Given the description of an element on the screen output the (x, y) to click on. 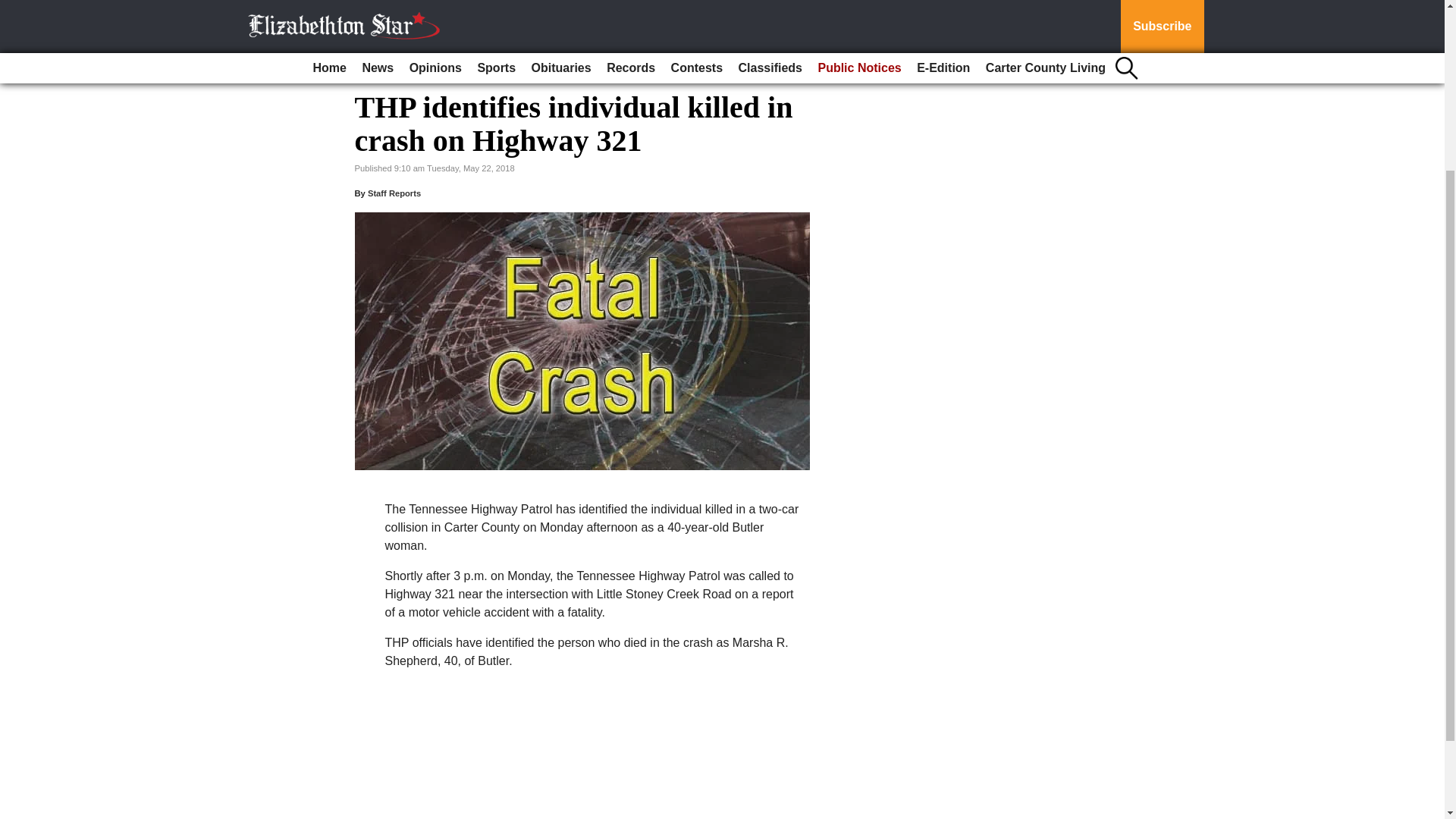
Staff Reports (394, 193)
